Given the description of an element on the screen output the (x, y) to click on. 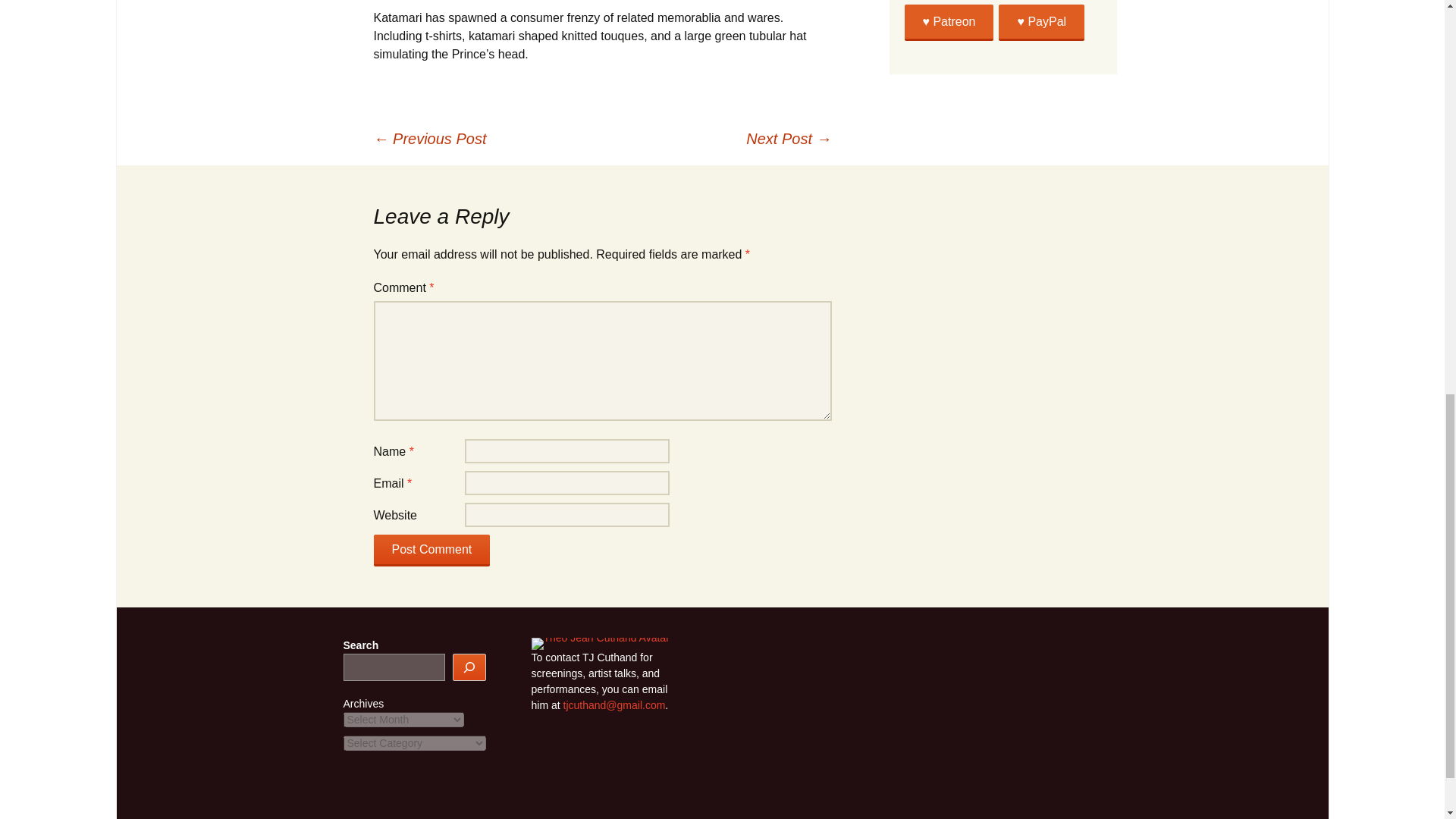
Post Comment (430, 550)
Post Comment (430, 550)
